Given the description of an element on the screen output the (x, y) to click on. 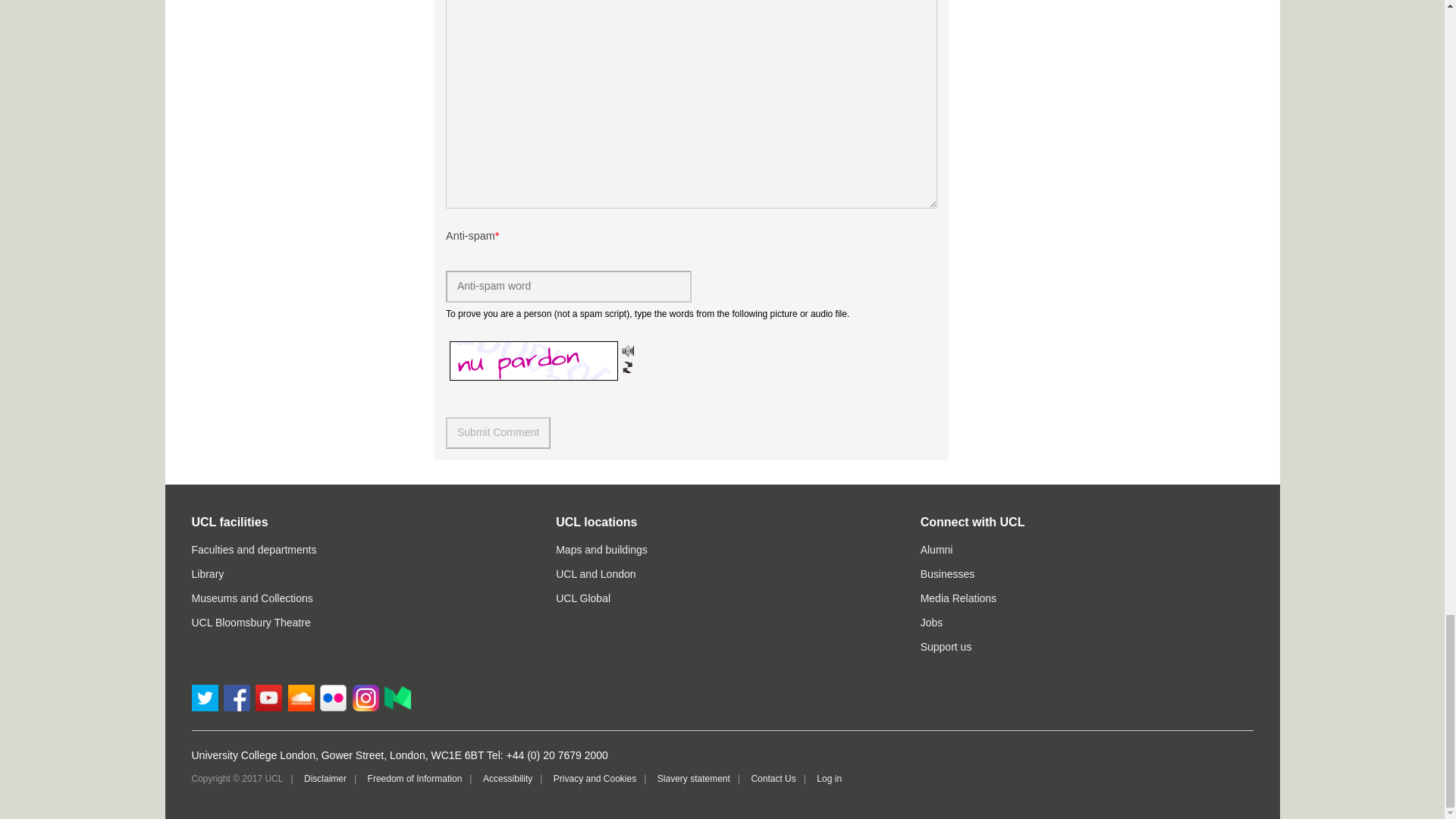
Library (207, 573)
Maps and buildings (601, 549)
Faculties and departments (252, 549)
Submit Comment (497, 432)
Load new (627, 367)
Submit Comment (497, 432)
UCL Bloomsbury Theatre (250, 622)
Museums and Collections (251, 598)
Listen (627, 350)
